Given the description of an element on the screen output the (x, y) to click on. 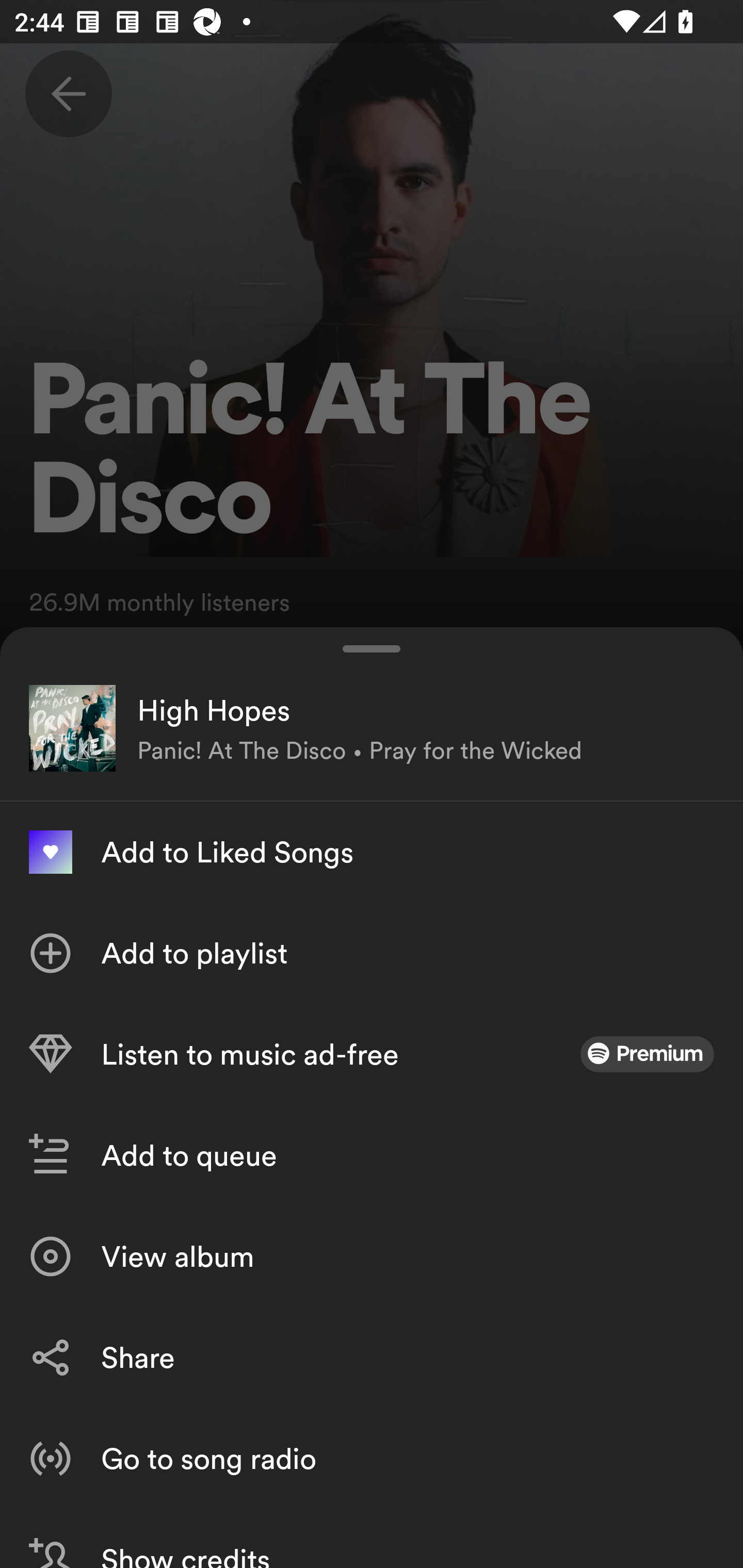
Add to Liked Songs (371, 852)
Add to playlist (371, 953)
Listen to music ad-free (371, 1054)
Add to queue (371, 1155)
View album (371, 1256)
Share (371, 1357)
Go to song radio (371, 1458)
Show credits (371, 1538)
